Given the description of an element on the screen output the (x, y) to click on. 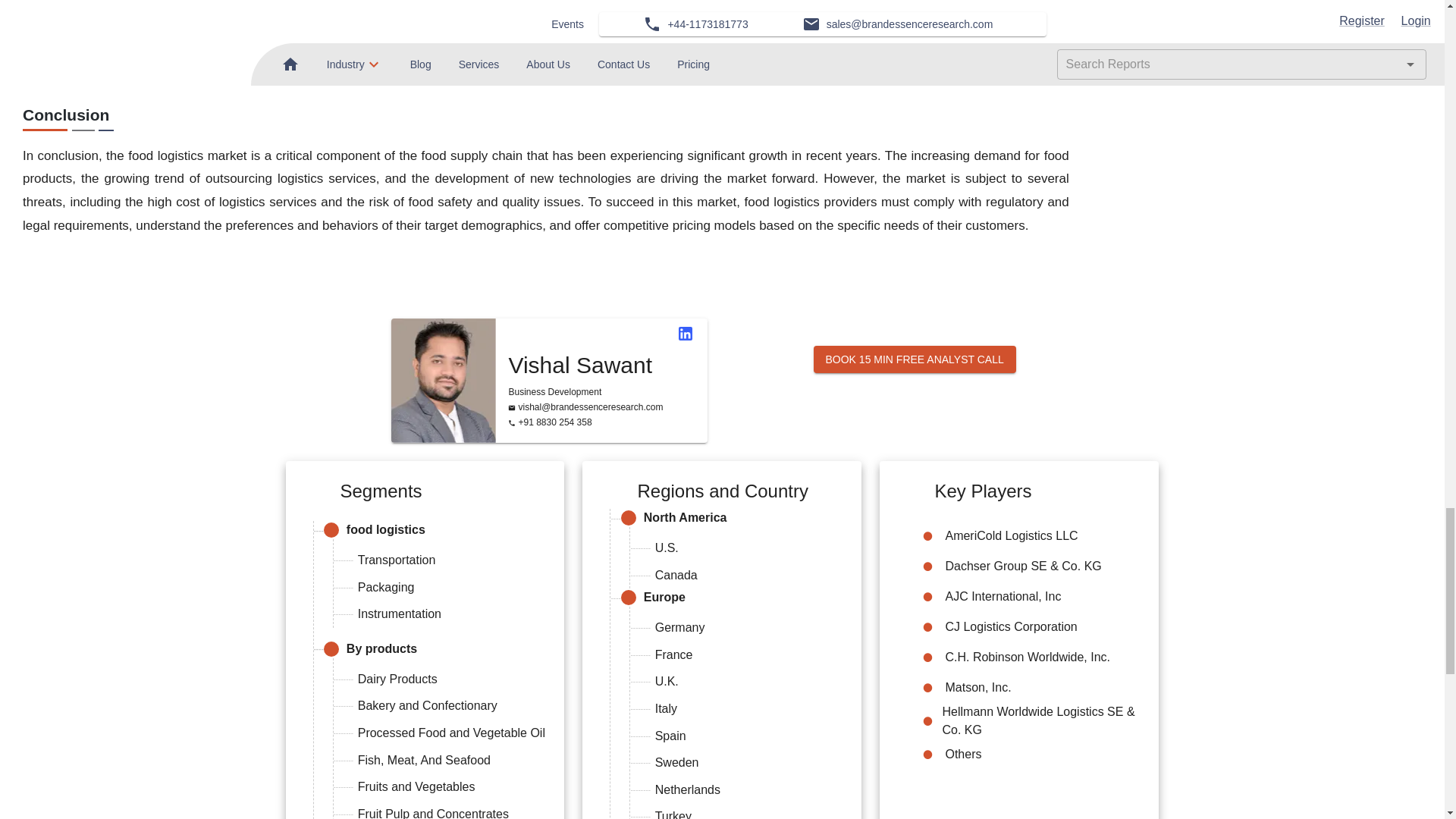
BOOK 15 MIN FREE ANALYST CALL (913, 359)
